Given the description of an element on the screen output the (x, y) to click on. 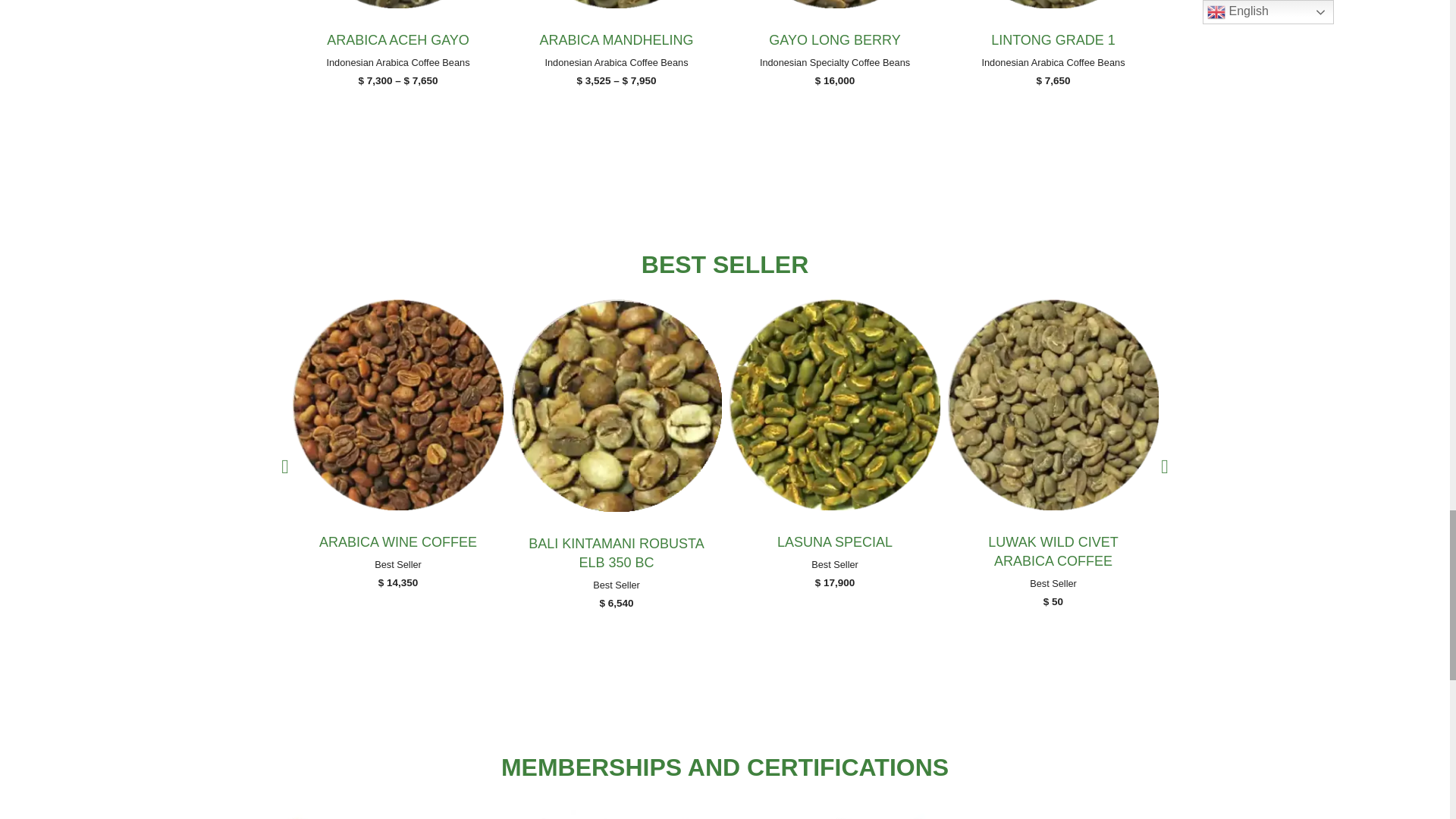
Sumatra Coffee Supplier 5 (616, 4)
Sumatra Coffee Supplier 4 (397, 4)
Sumatra Coffee Supplier 7 (1052, 4)
Sumatra Coffee Supplier 6 (834, 4)
